Given the description of an element on the screen output the (x, y) to click on. 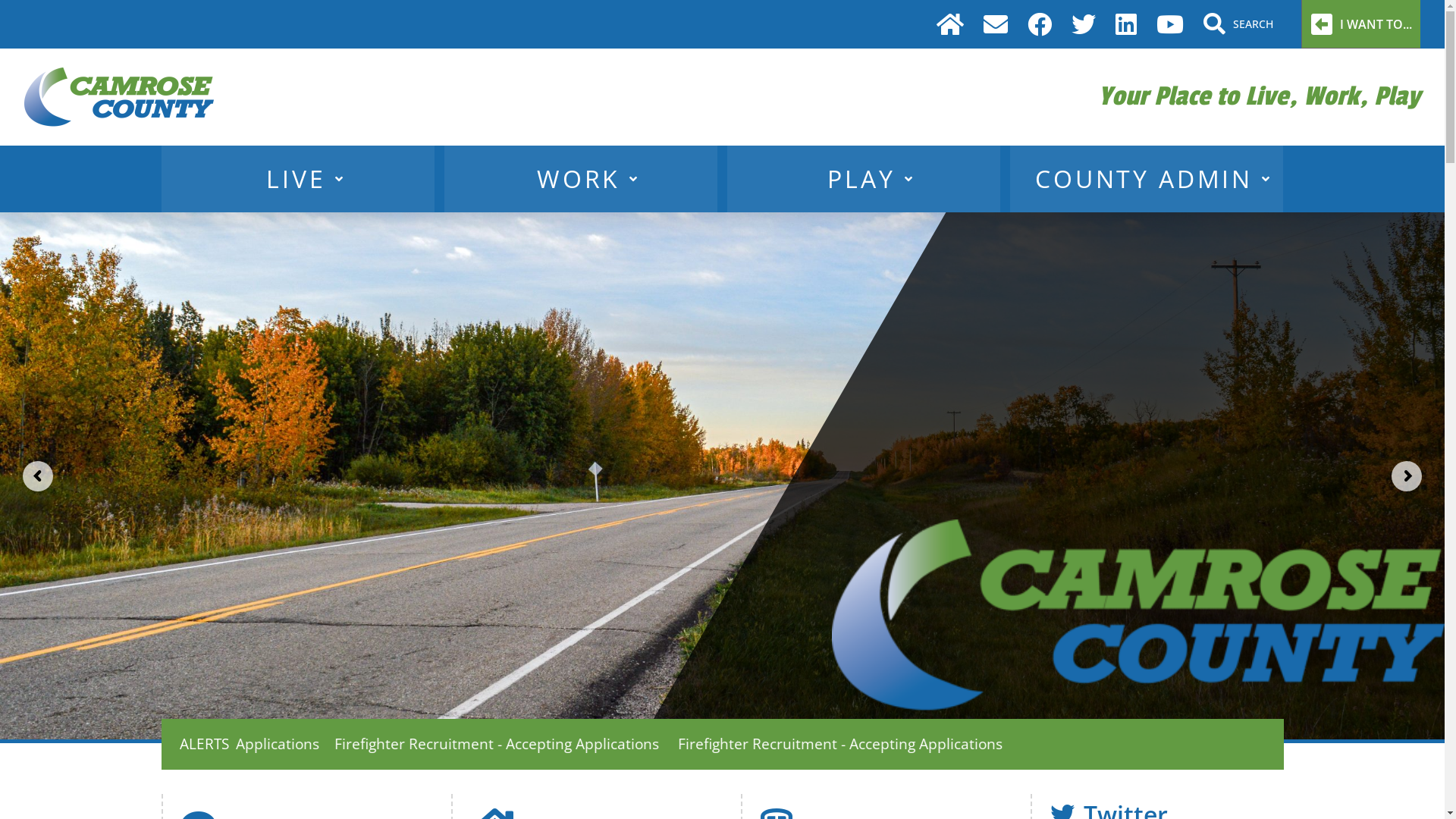
LIVE Element type: text (297, 178)
WORK Element type: text (580, 178)
COUNTY ADMIN Element type: text (1146, 178)
Click here Element type: text (1145, 549)
Firefighter Recruitment - Accepting Applications Element type: text (1185, 743)
Firefighter Recruitment - Accepting Applications Element type: text (844, 743)
Firefighter Recruitment - Accepting Applications Element type: text (503, 743)
PLAY Element type: text (863, 178)
